Given the description of an element on the screen output the (x, y) to click on. 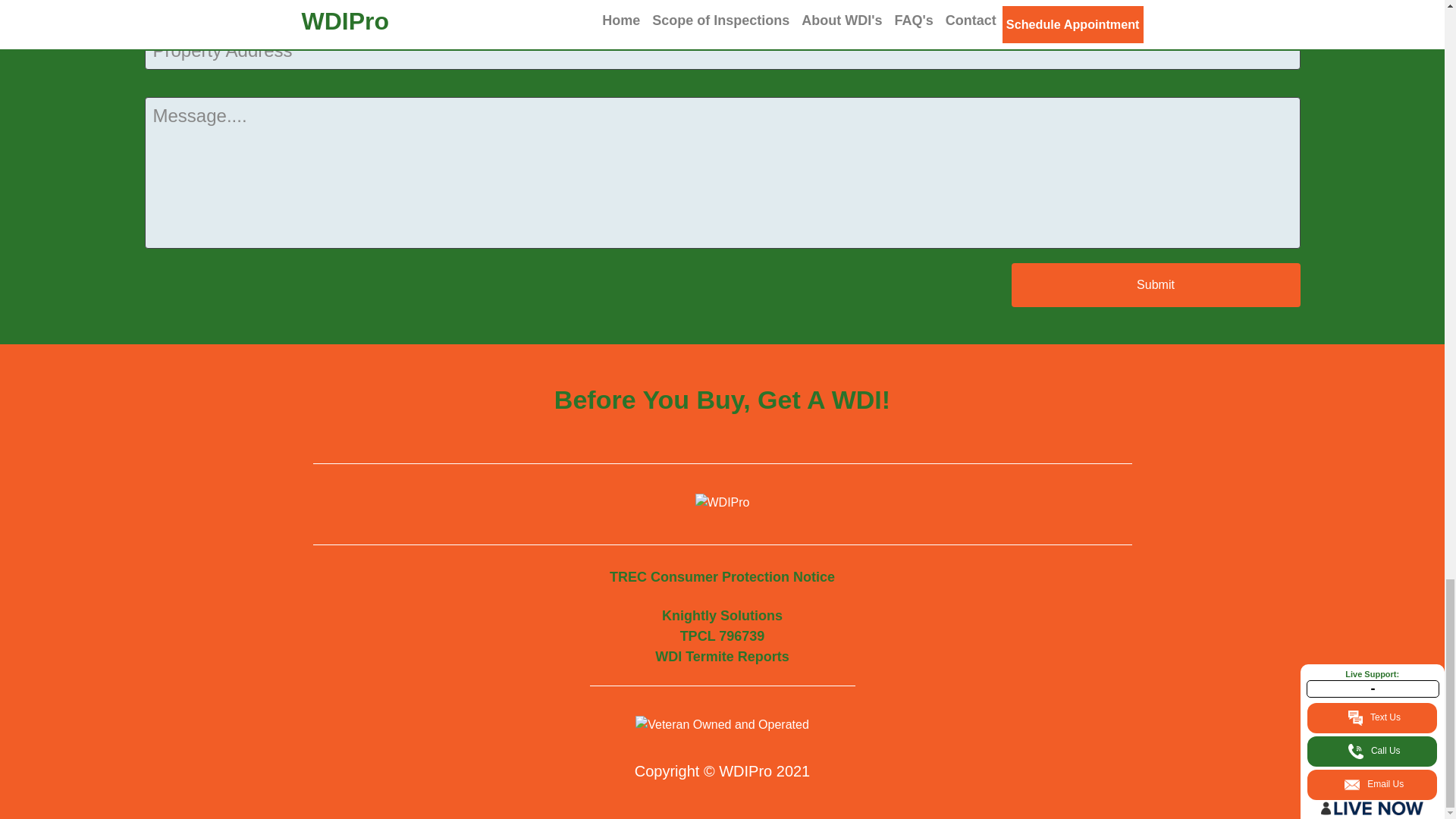
TREC Consumer Protection Notice (722, 576)
Submit (722, 636)
